Given the description of an element on the screen output the (x, y) to click on. 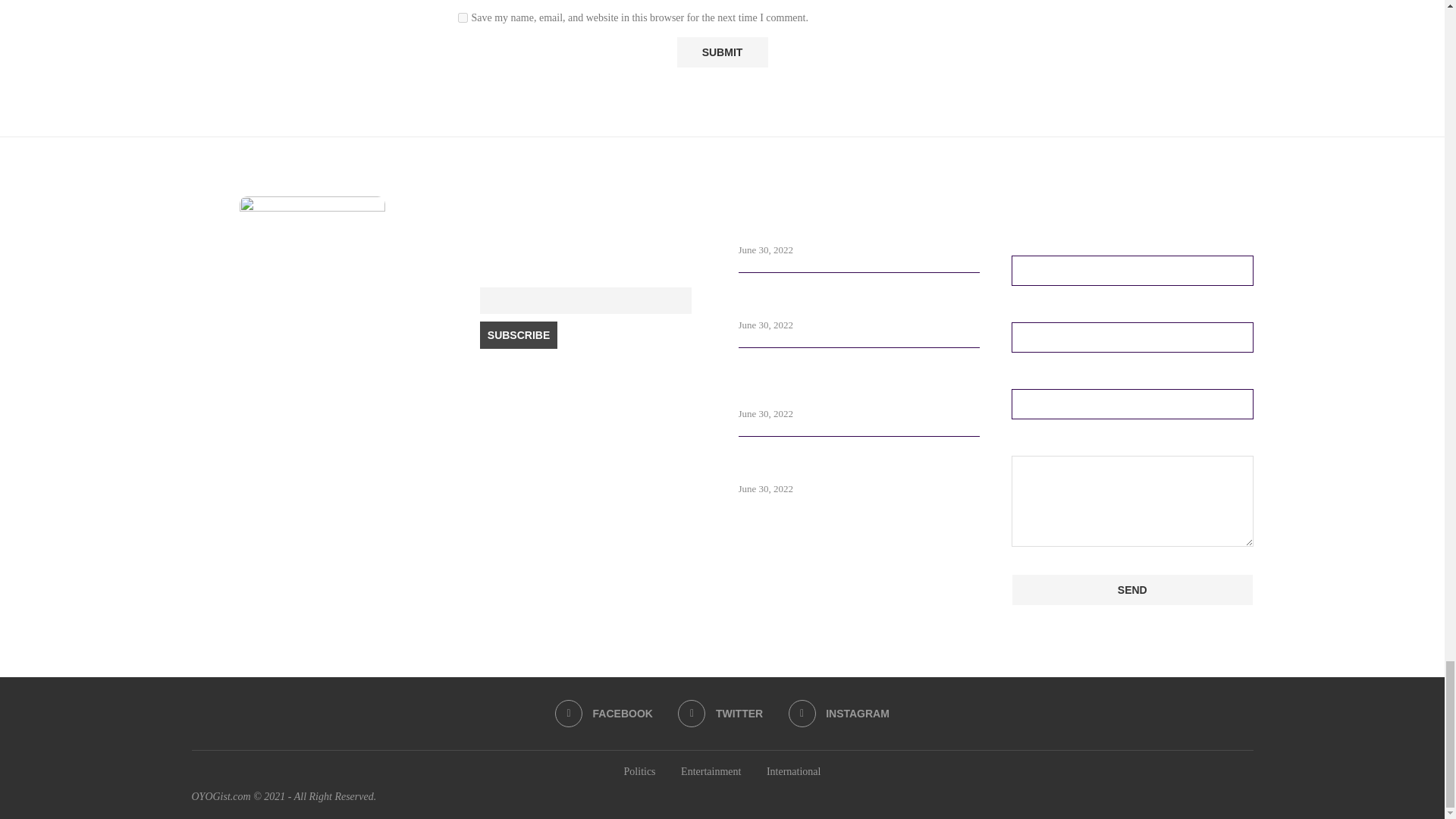
Send (1132, 590)
Submit (722, 51)
yes (462, 17)
Subscribe (518, 334)
